Given the description of an element on the screen output the (x, y) to click on. 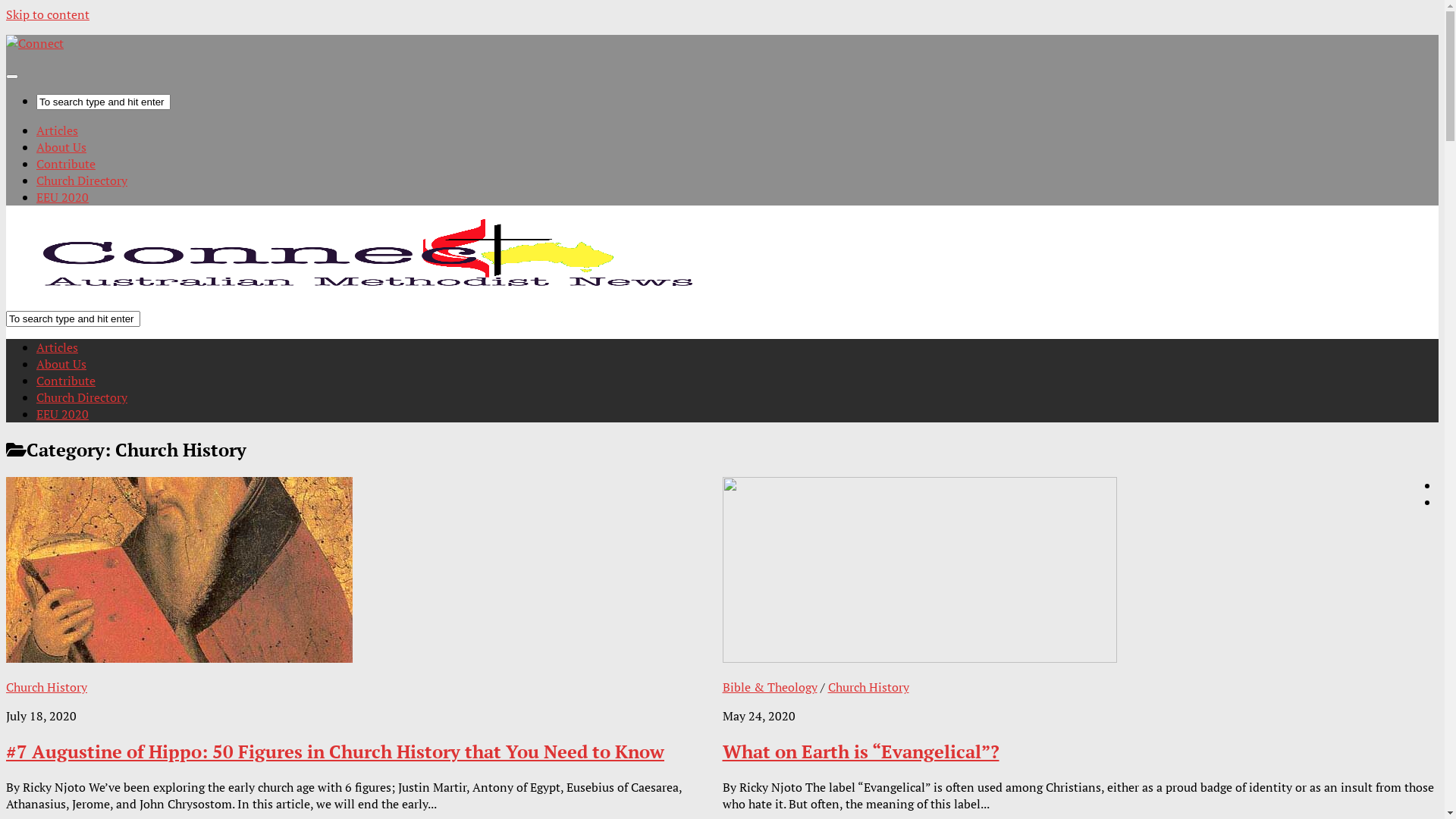
EEU 2020 Element type: text (62, 413)
Skip to content Element type: text (47, 14)
About Us Element type: text (61, 146)
Connect | Home page Element type: hover (34, 42)
Church Directory Element type: text (81, 180)
Connect | Home page Element type: hover (360, 288)
Articles Element type: text (57, 346)
Contribute Element type: text (65, 163)
Bible & Theology Element type: text (768, 686)
Menu Element type: hover (12, 76)
Contribute Element type: text (65, 380)
EEU 2020 Element type: text (62, 196)
Church History Element type: text (868, 686)
About Us Element type: text (61, 363)
Articles Element type: text (57, 130)
Church Directory Element type: text (81, 397)
Church History Element type: text (46, 686)
